Given the description of an element on the screen output the (x, y) to click on. 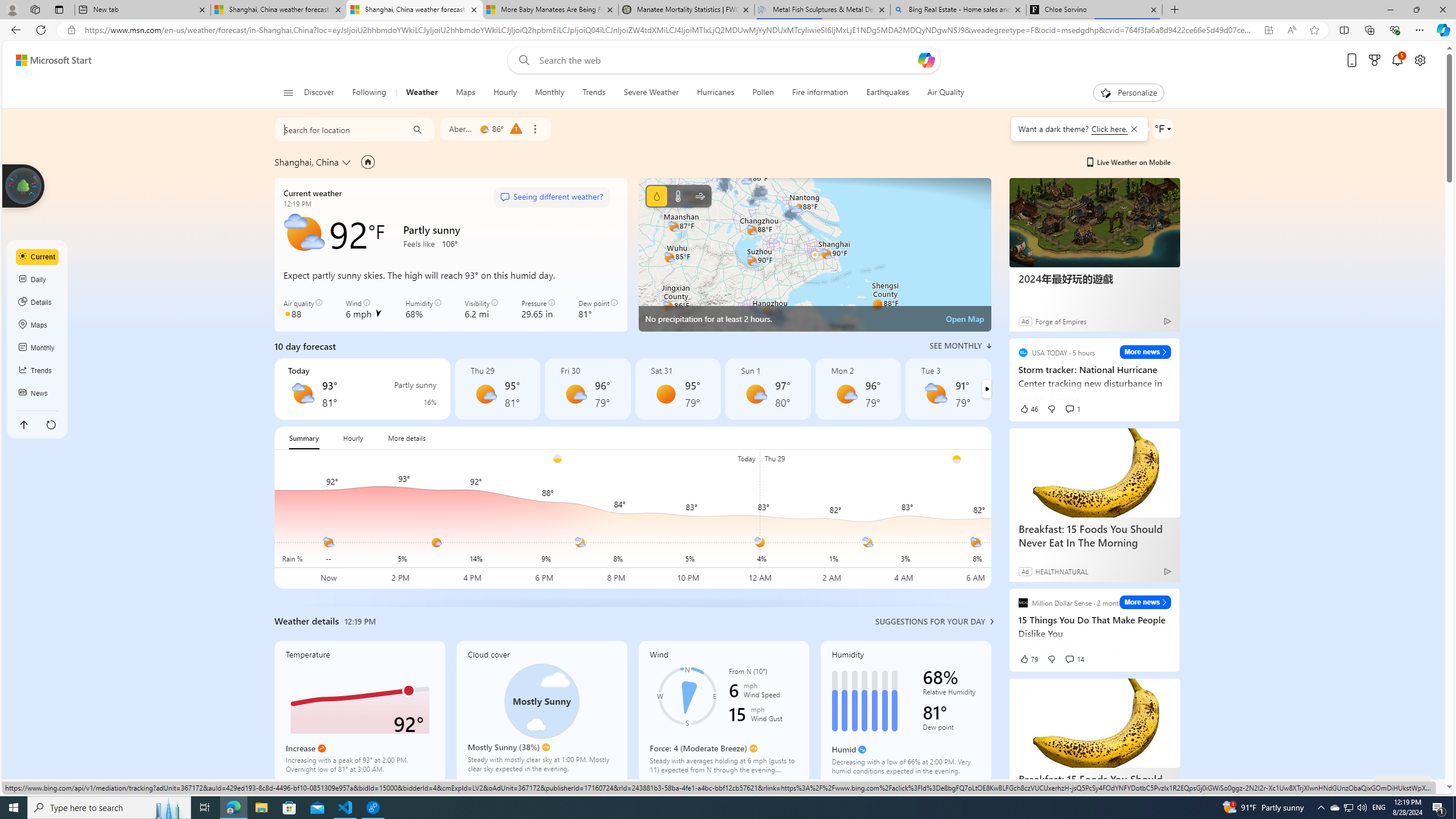
Open Map (965, 318)
See Monthly (959, 345)
Wind 6 mph (363, 309)
More news (1144, 602)
Severe Weather (651, 92)
Copilot (Ctrl+Shift+.) (1442, 29)
Privacy & Cookies (1160, 785)
Summary (303, 437)
